Given the description of an element on the screen output the (x, y) to click on. 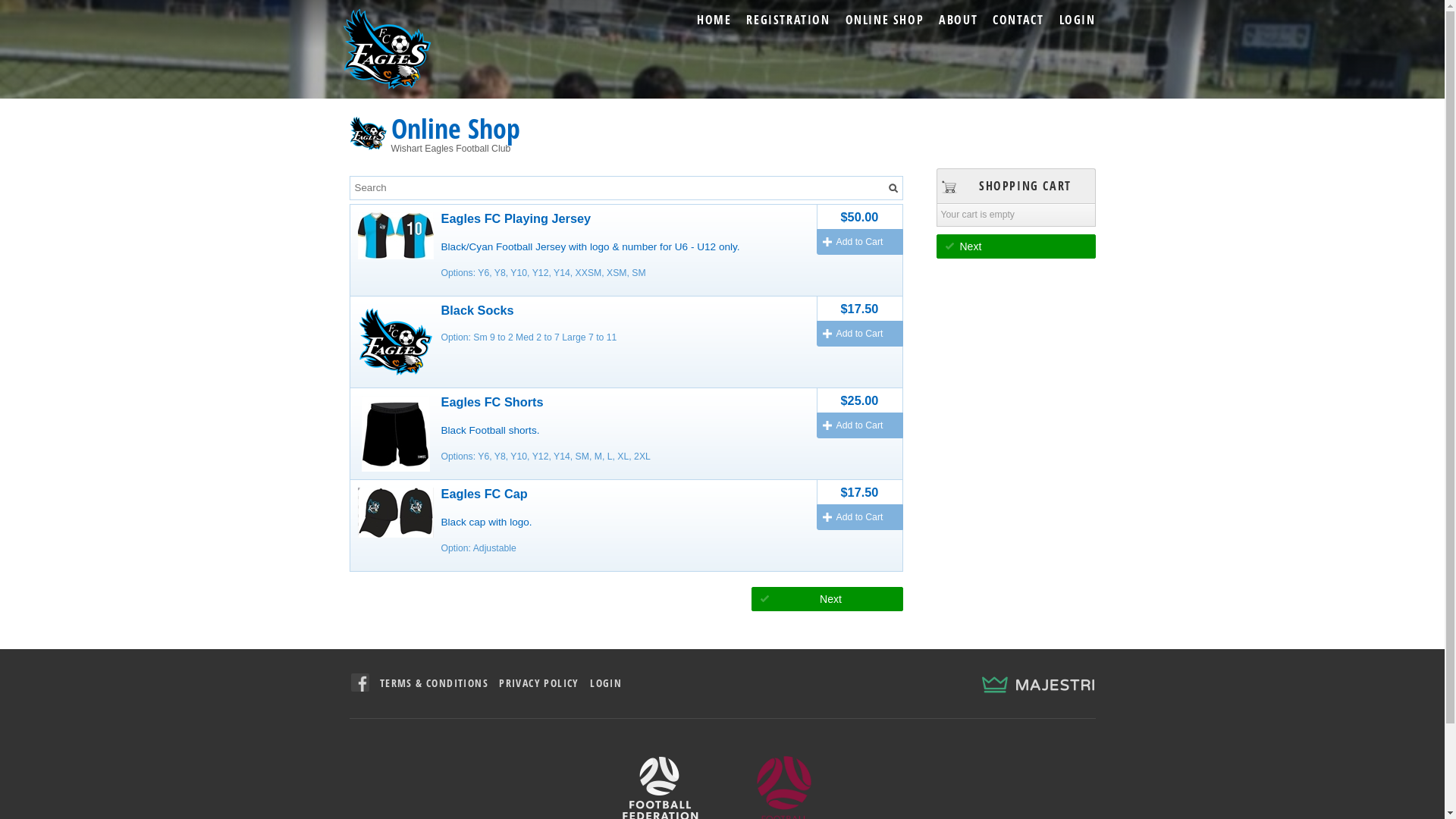
ABOUT Element type: text (958, 19)
Add to Cart Element type: text (858, 425)
Next Element type: text (826, 598)
Next Element type: text (1015, 246)
Add to Cart Element type: text (858, 333)
TERMS & CONDITIONS Element type: text (433, 682)
Add to Cart Element type: text (858, 241)
REGISTRATION Element type: text (787, 19)
HOME Element type: text (713, 19)
LOGIN Element type: text (605, 682)
ONLINE SHOP Element type: text (884, 19)
PRIVACY POLICY Element type: text (538, 682)
FACEBOOK Element type: text (359, 682)
Add to Cart Element type: text (858, 517)
LOGIN Element type: text (1076, 19)
CONTACT Element type: text (1018, 19)
